Given the description of an element on the screen output the (x, y) to click on. 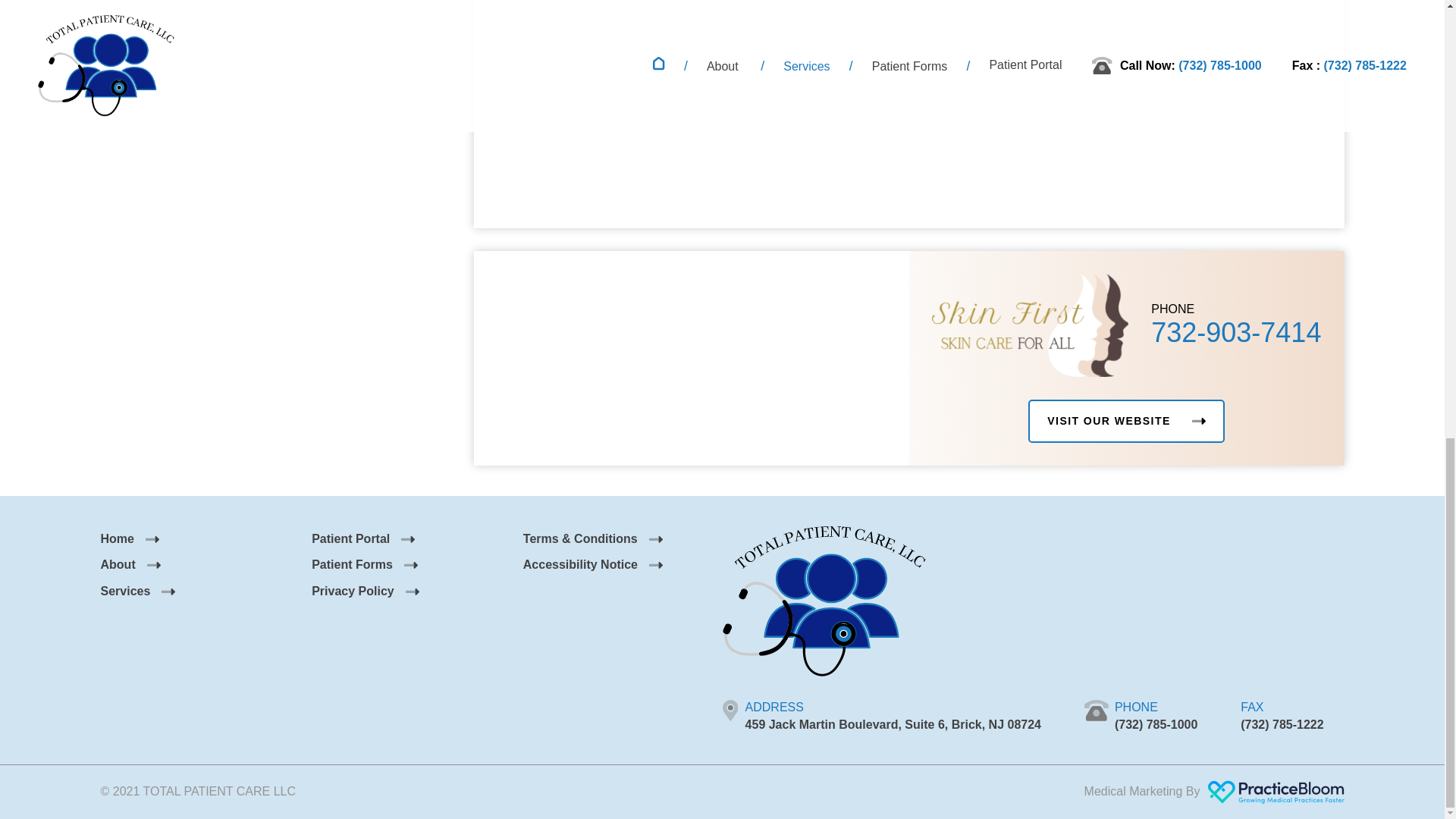
Accessibility Notice (592, 563)
VISIT OUR WEBSITE (1125, 421)
Patient Portal (362, 538)
732-903-7414 (1235, 332)
Privacy Policy (365, 590)
About (130, 563)
Medical Marketing By (1213, 791)
Patient Forms (364, 563)
Services (137, 590)
Home (129, 538)
